Given the description of an element on the screen output the (x, y) to click on. 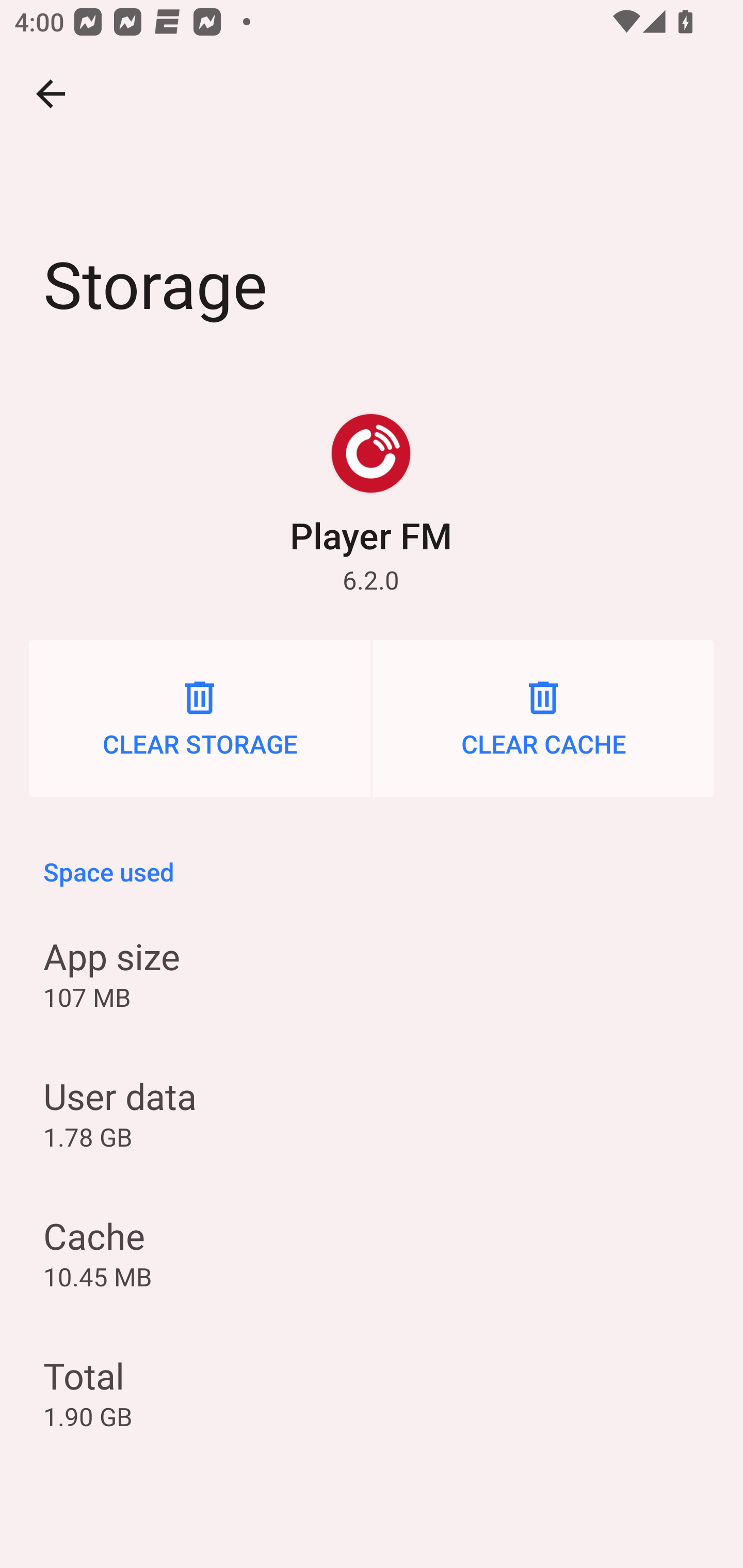
Navigate up (50, 93)
Player FM 6.2.0 (370, 503)
CLEAR STORAGE (199, 717)
CLEAR CACHE (543, 717)
